Given the description of an element on the screen output the (x, y) to click on. 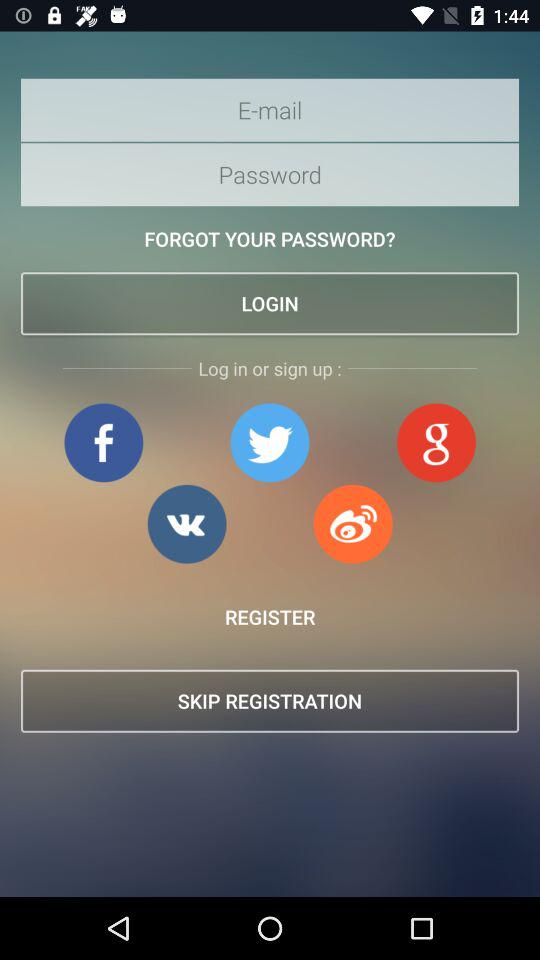
open google (436, 442)
